Given the description of an element on the screen output the (x, y) to click on. 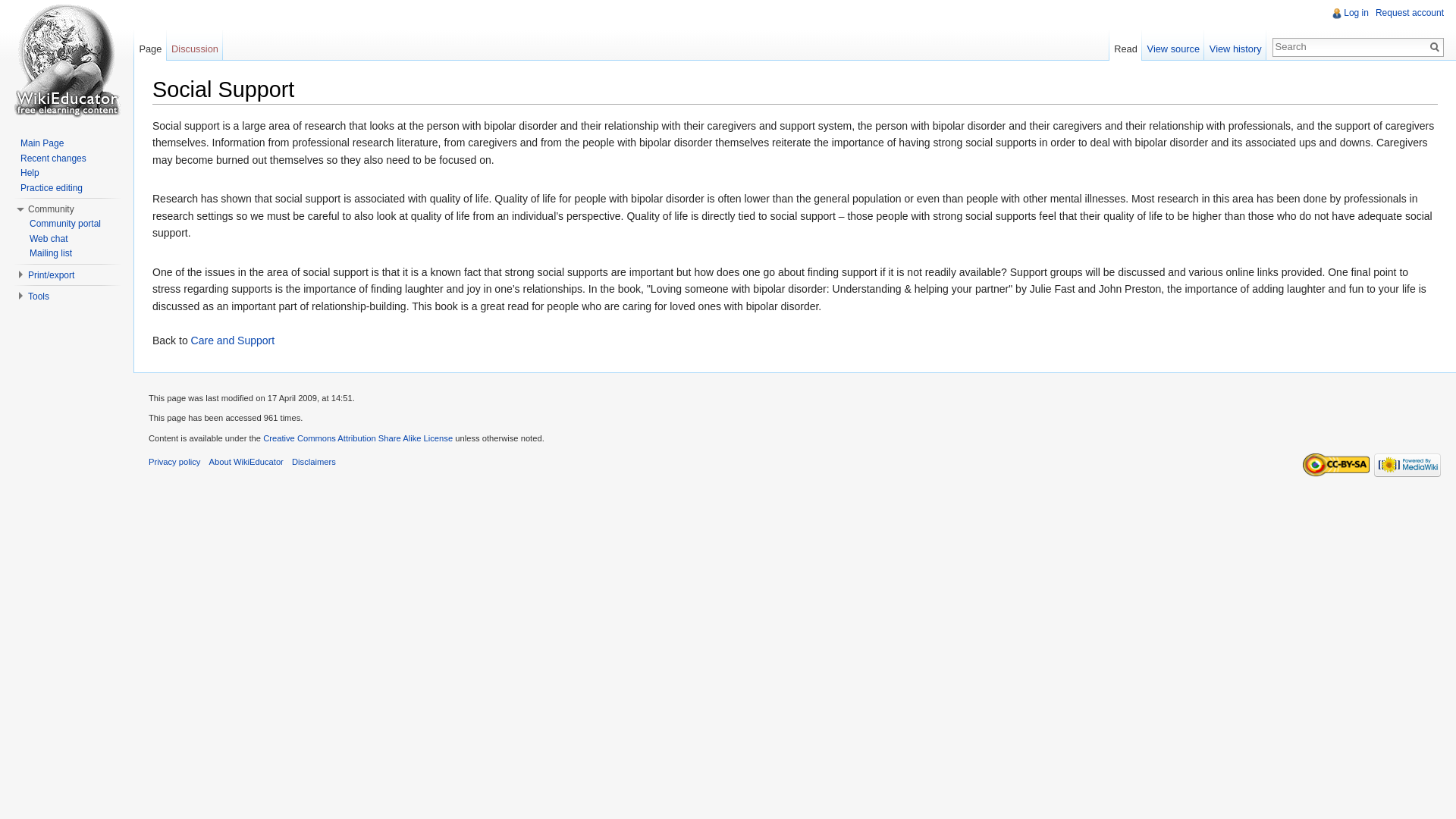
Web chat (47, 238)
Care and Support (232, 340)
Log in (1355, 12)
Go (1434, 46)
Help (29, 172)
Community (50, 208)
The place to find out (29, 172)
Mailing list (50, 253)
Privacy policy (174, 461)
Page (150, 45)
